Given the description of an element on the screen output the (x, y) to click on. 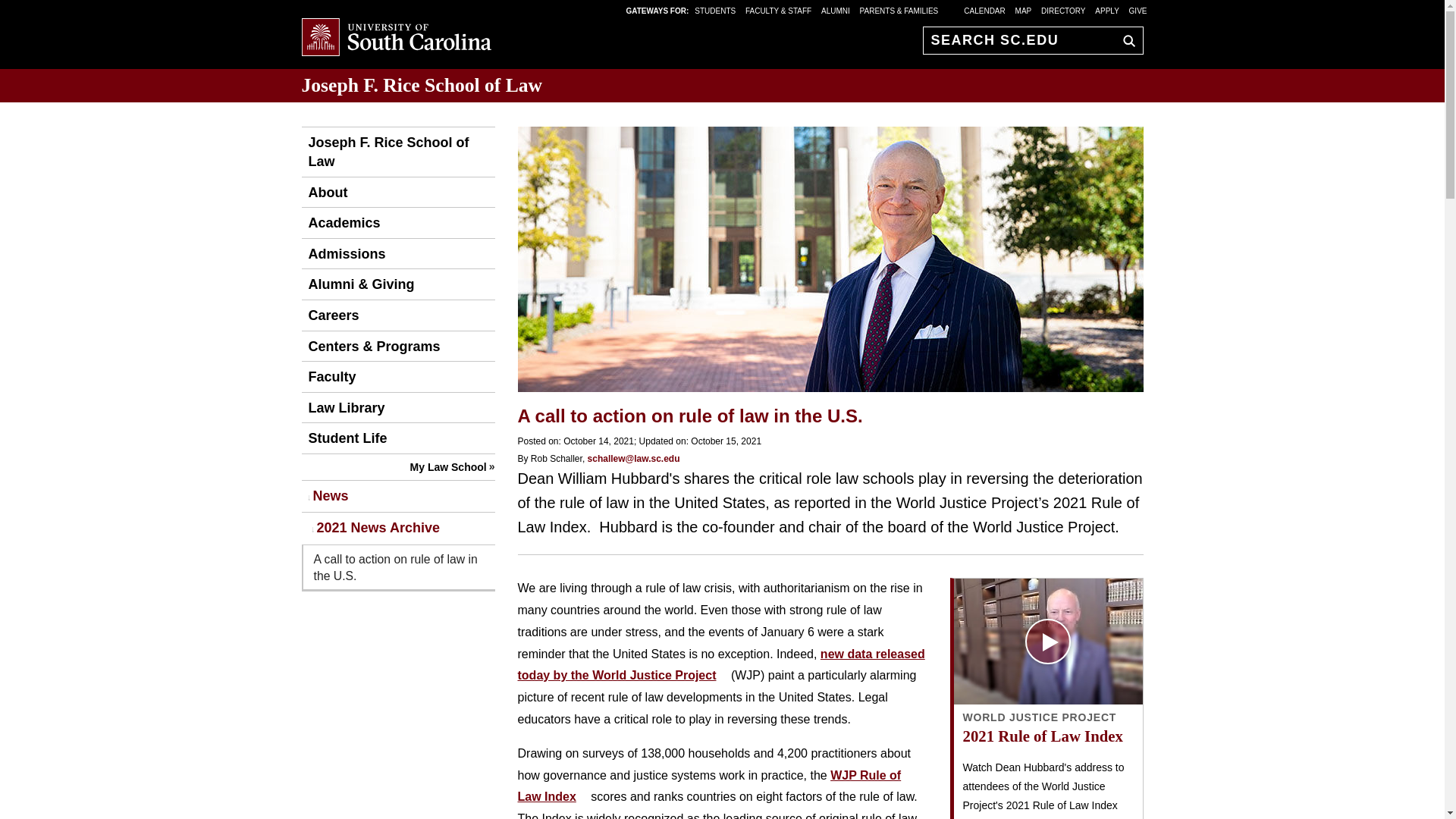
GO (1125, 40)
APPLY (1106, 9)
GO (1125, 40)
ALUMNI (835, 9)
CALENDAR (983, 9)
GIVE (1138, 9)
My Law School (445, 466)
STUDENTS (716, 9)
MAP (1023, 9)
Joseph F. Rice School of Law (398, 151)
DIRECTORY (1063, 9)
University of South Carolina Home (396, 38)
sc.edu Search (1125, 40)
Joseph F. Rice School of Law (422, 85)
